Given the description of an element on the screen output the (x, y) to click on. 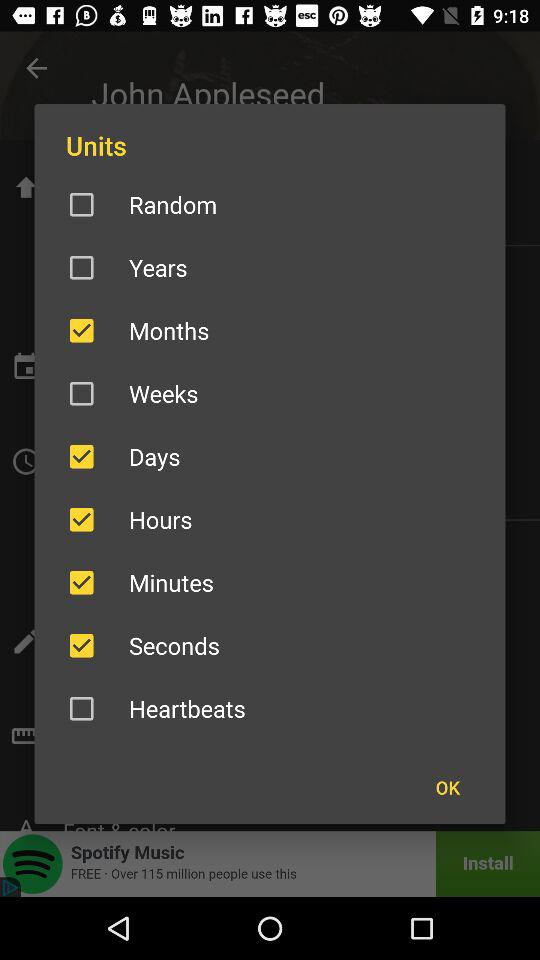
turn off icon at the bottom right corner (447, 787)
